Given the description of an element on the screen output the (x, y) to click on. 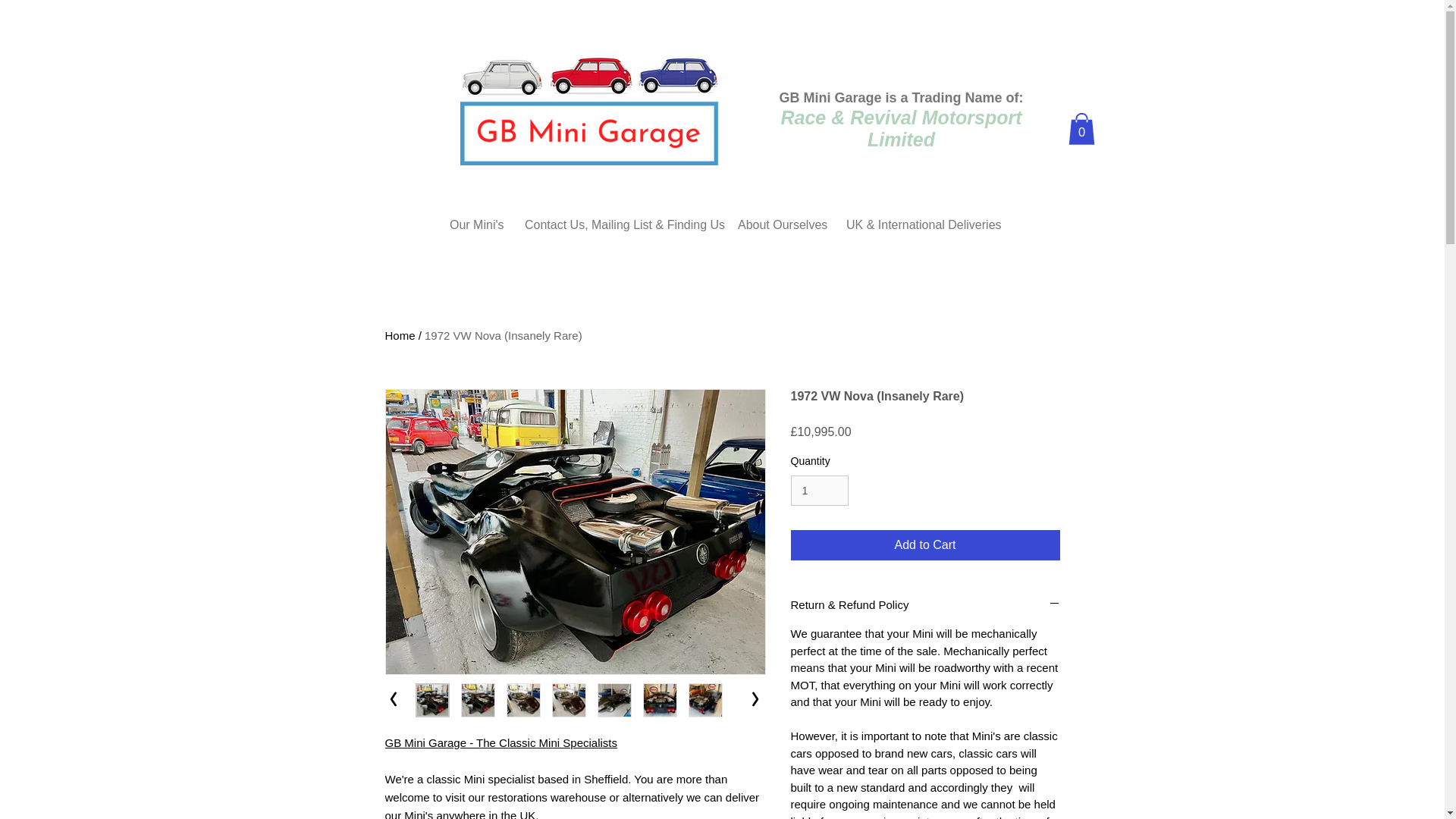
1 (818, 490)
About Ourselves (780, 224)
Our Mini's (475, 224)
Home (399, 335)
